Given the description of an element on the screen output the (x, y) to click on. 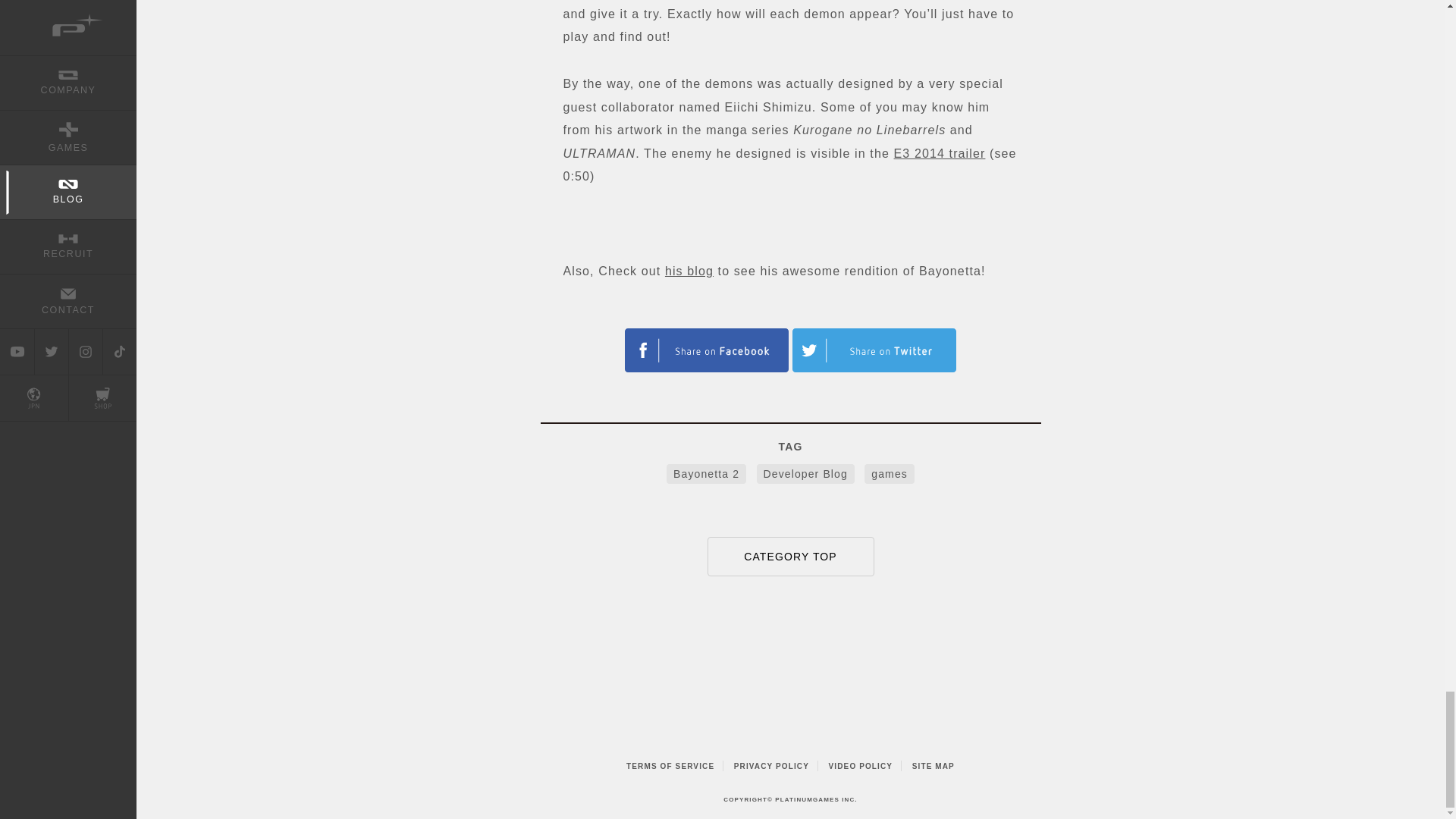
TWITTER (706, 350)
Bayonetta 2 (705, 474)
his blog (689, 270)
E3 2014 trailer (939, 153)
Developer Blog (805, 474)
CATEGORY TOP (789, 556)
games (889, 474)
FACEBOOK (874, 350)
